Given the description of an element on the screen output the (x, y) to click on. 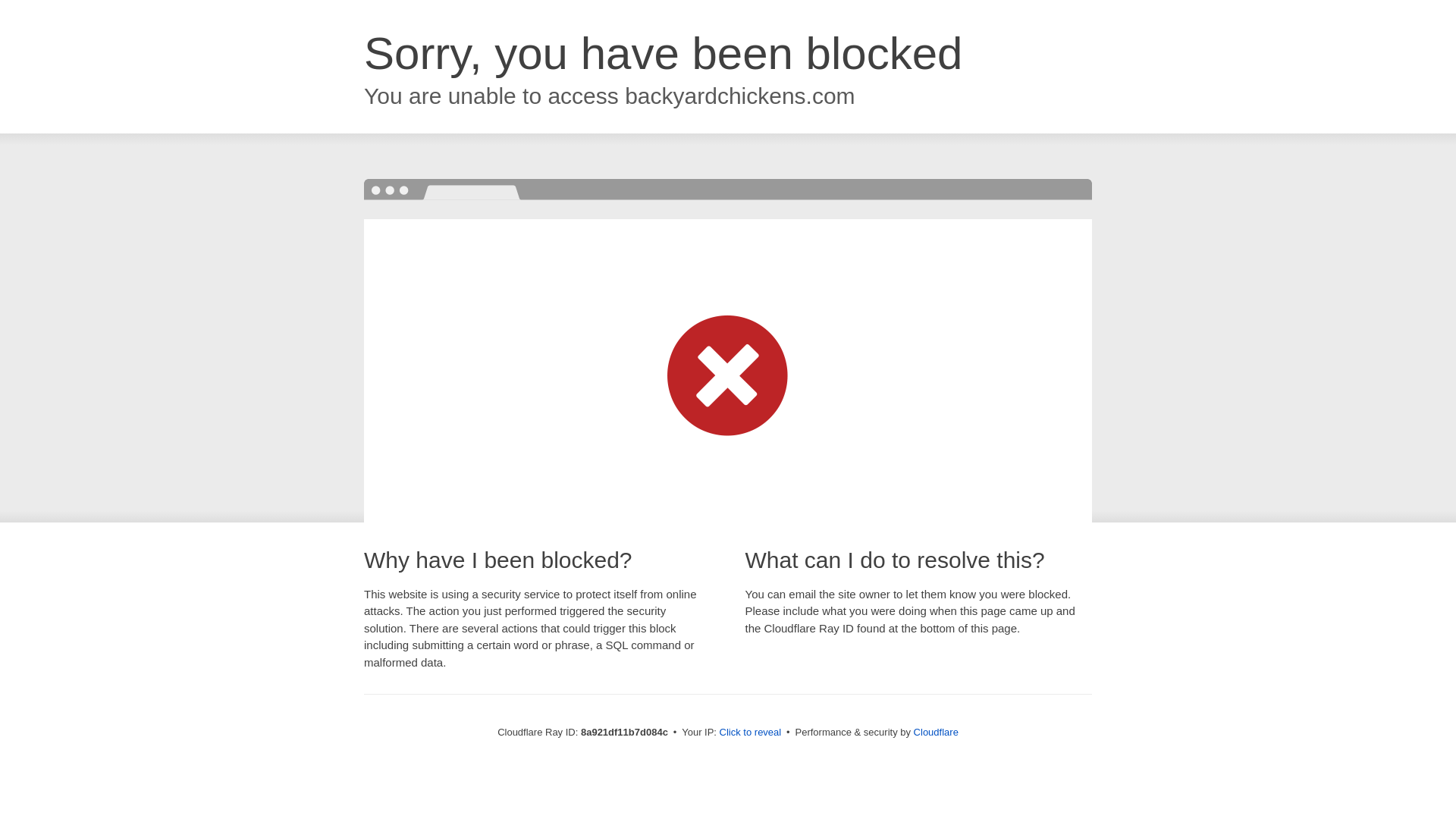
Cloudflare (936, 731)
Click to reveal (750, 732)
